Given the description of an element on the screen output the (x, y) to click on. 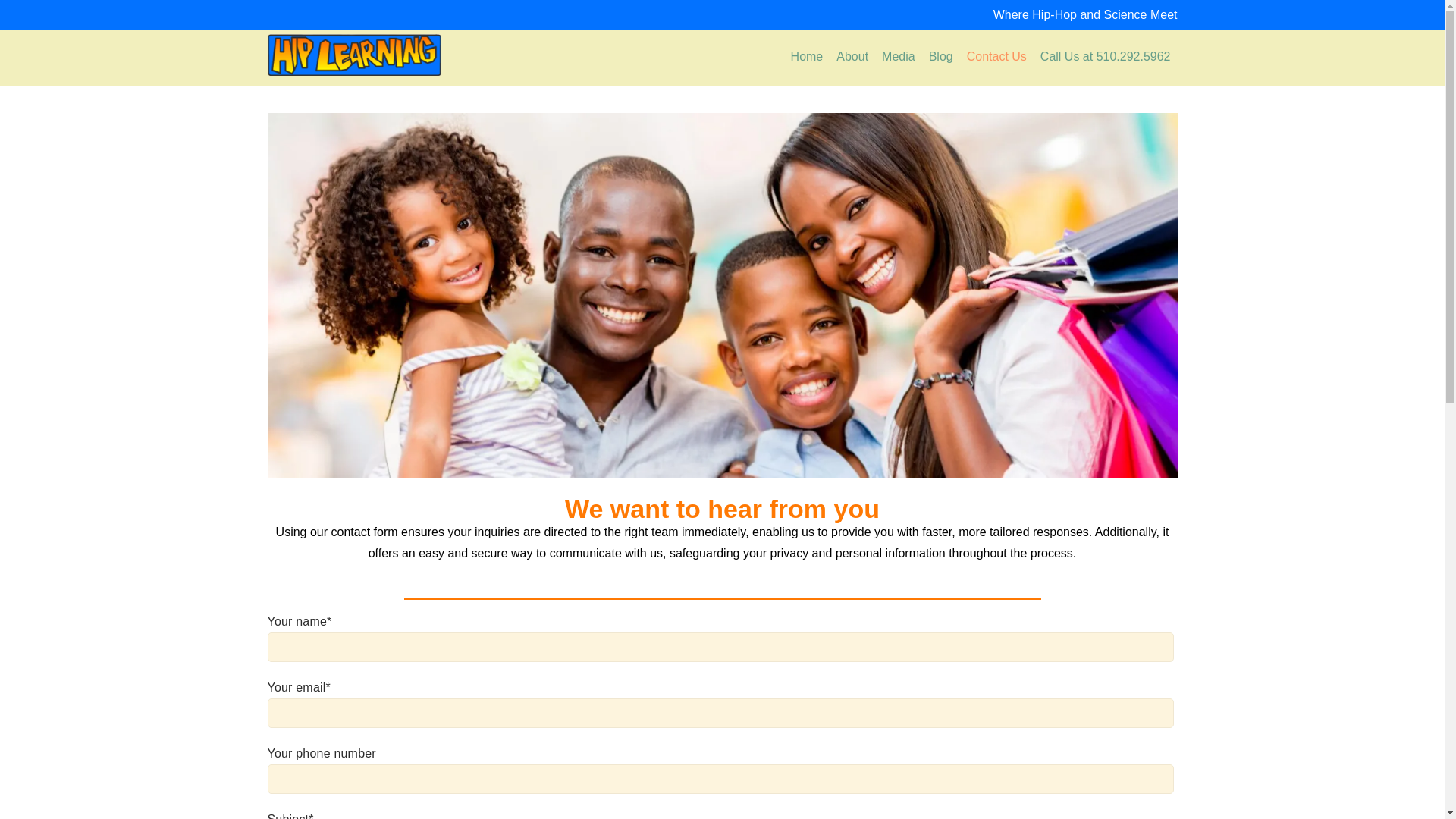
Contact Us (996, 58)
Hip Learning (353, 54)
Hip Learning (353, 71)
Call Us at 510.292.5962 (1105, 58)
